Given the description of an element on the screen output the (x, y) to click on. 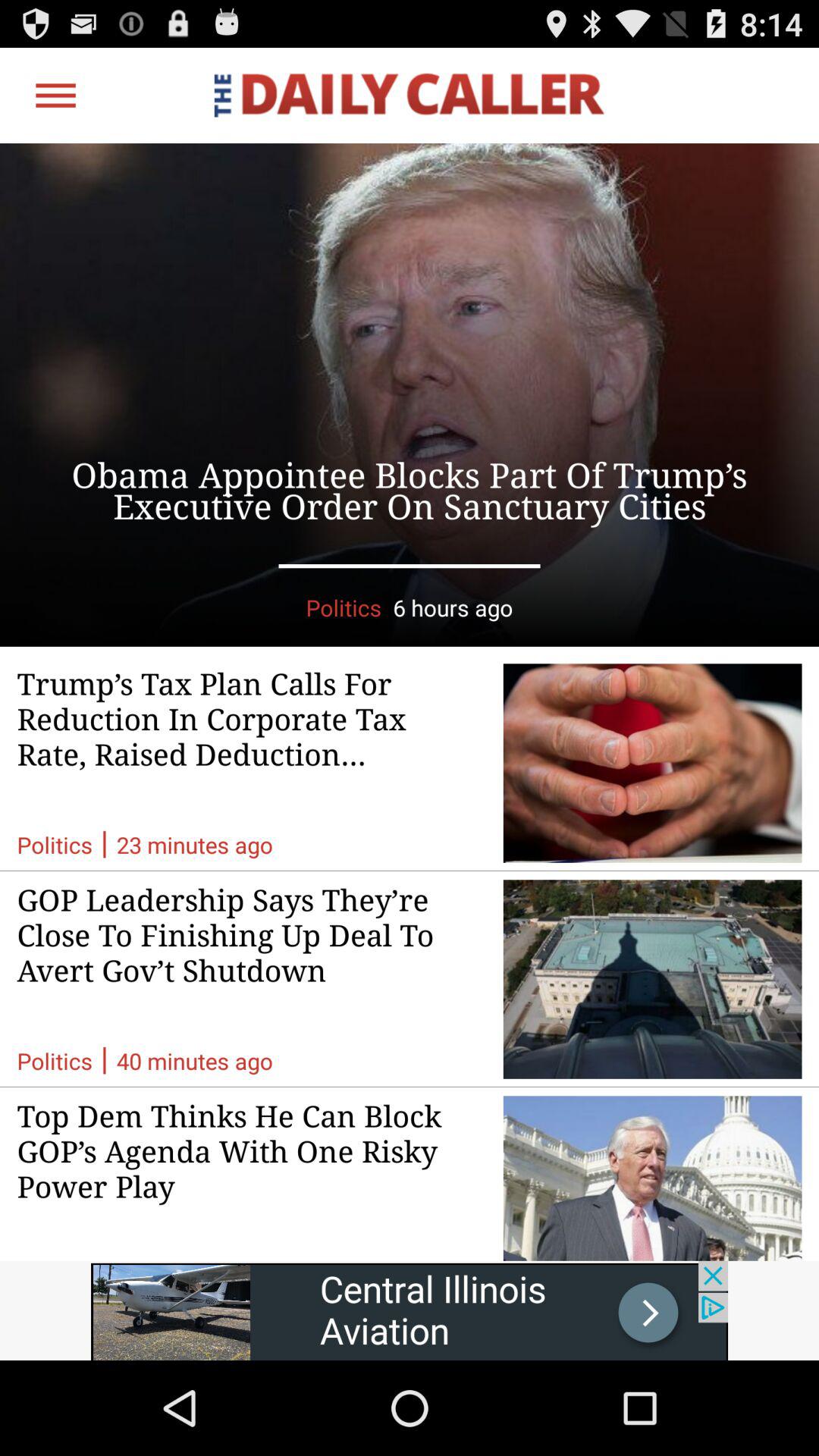
advertisement (409, 394)
